Given the description of an element on the screen output the (x, y) to click on. 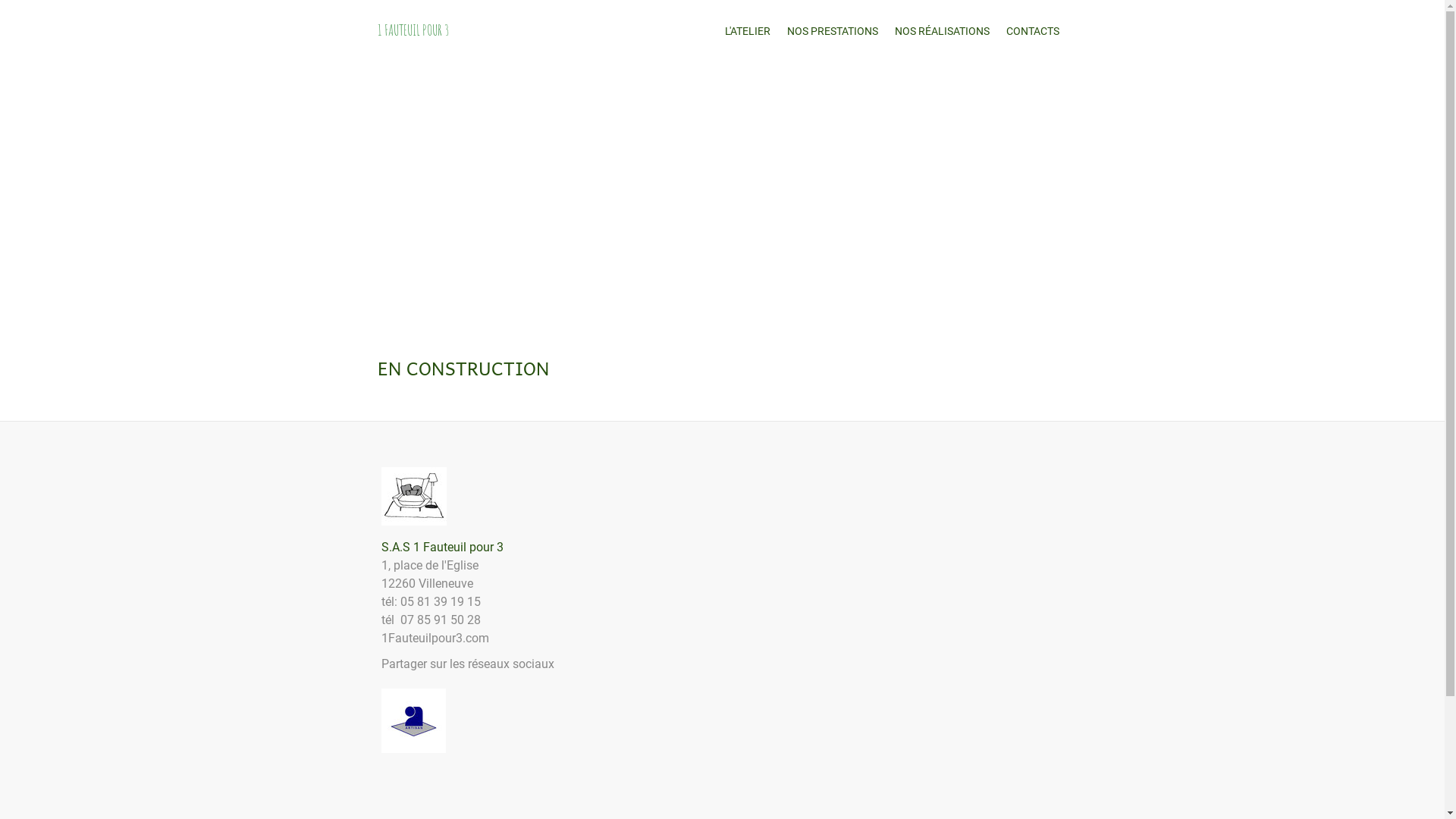
L'ATELIER Element type: text (746, 30)
1 FAUTEUIL POUR 3 Element type: text (413, 31)
CONTACTS Element type: text (1032, 30)
NOS PRESTATIONS Element type: text (831, 30)
